Given the description of an element on the screen output the (x, y) to click on. 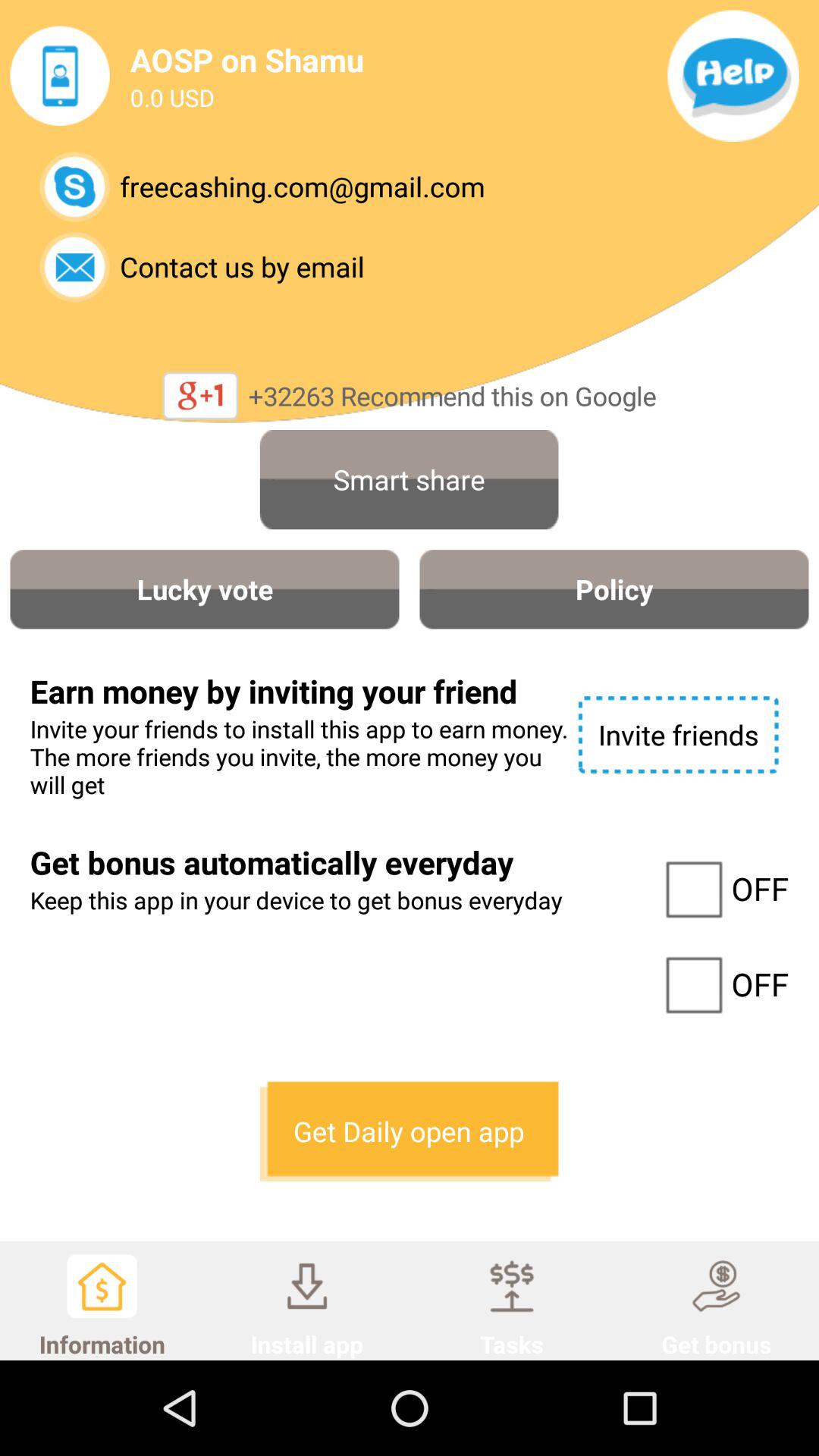
go to skype (74, 186)
